Given the description of an element on the screen output the (x, y) to click on. 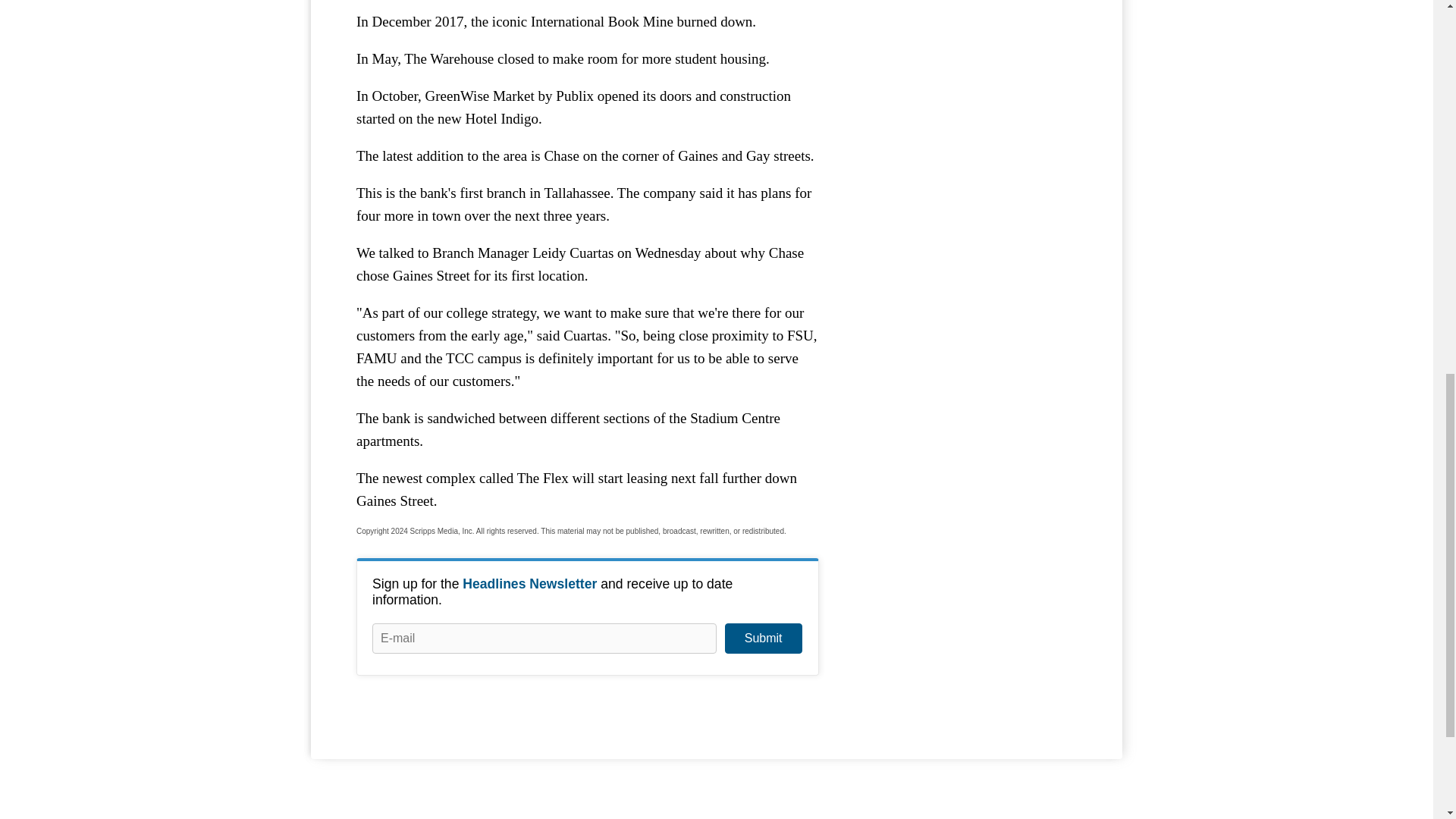
Submit (763, 638)
